Given the description of an element on the screen output the (x, y) to click on. 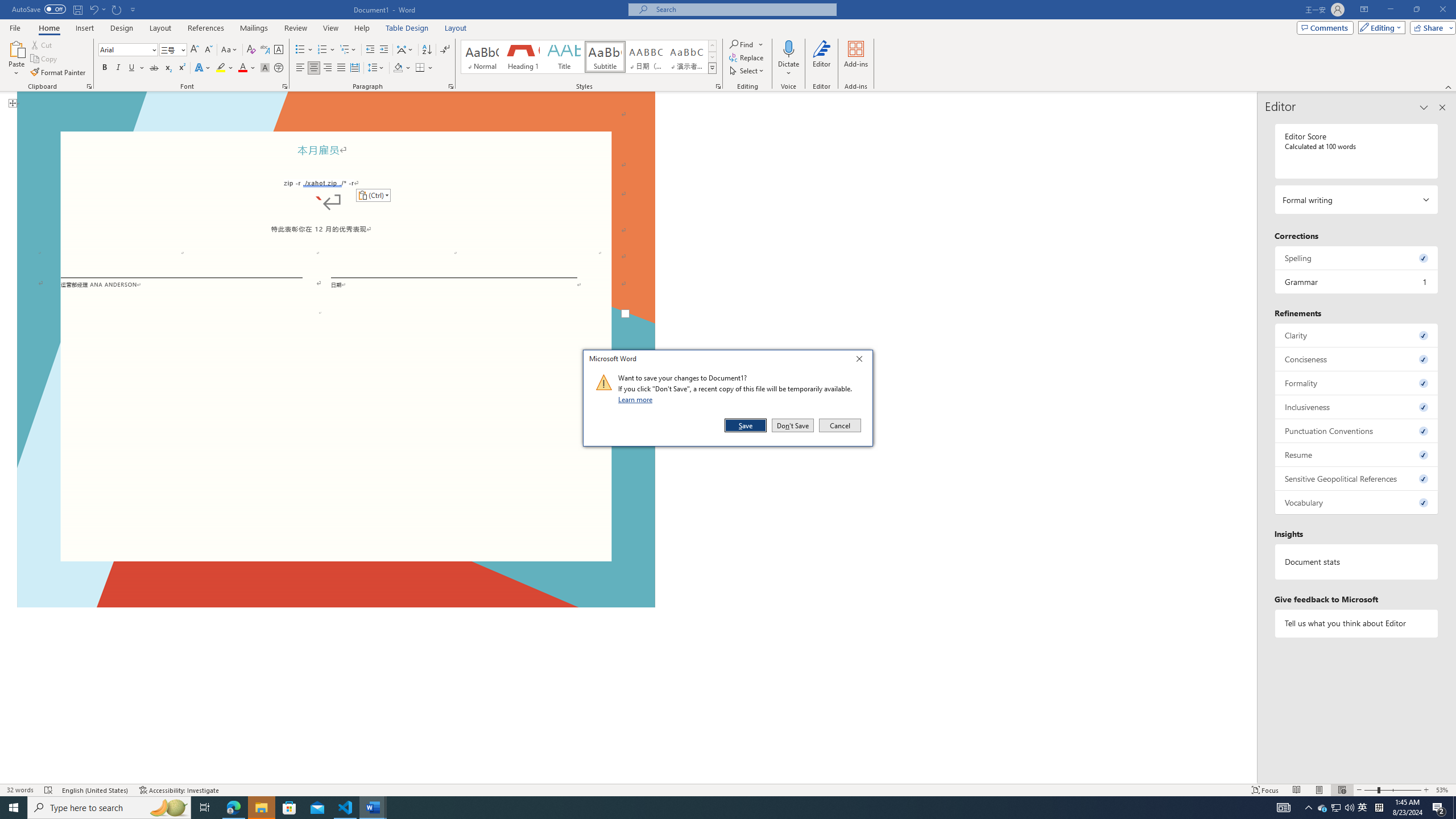
Font Size (169, 49)
Font Size (172, 49)
Superscript (180, 67)
Close pane (1441, 107)
Type here to search (108, 807)
Design (122, 28)
Multilevel List (347, 49)
Styles... (717, 85)
Heading 1 (522, 56)
Web Layout (1342, 790)
Text Effects and Typography (202, 67)
Class: MsoCommandBar (728, 45)
User Promoted Notification Area (1336, 807)
Microsoft search (742, 9)
